Given the description of an element on the screen output the (x, y) to click on. 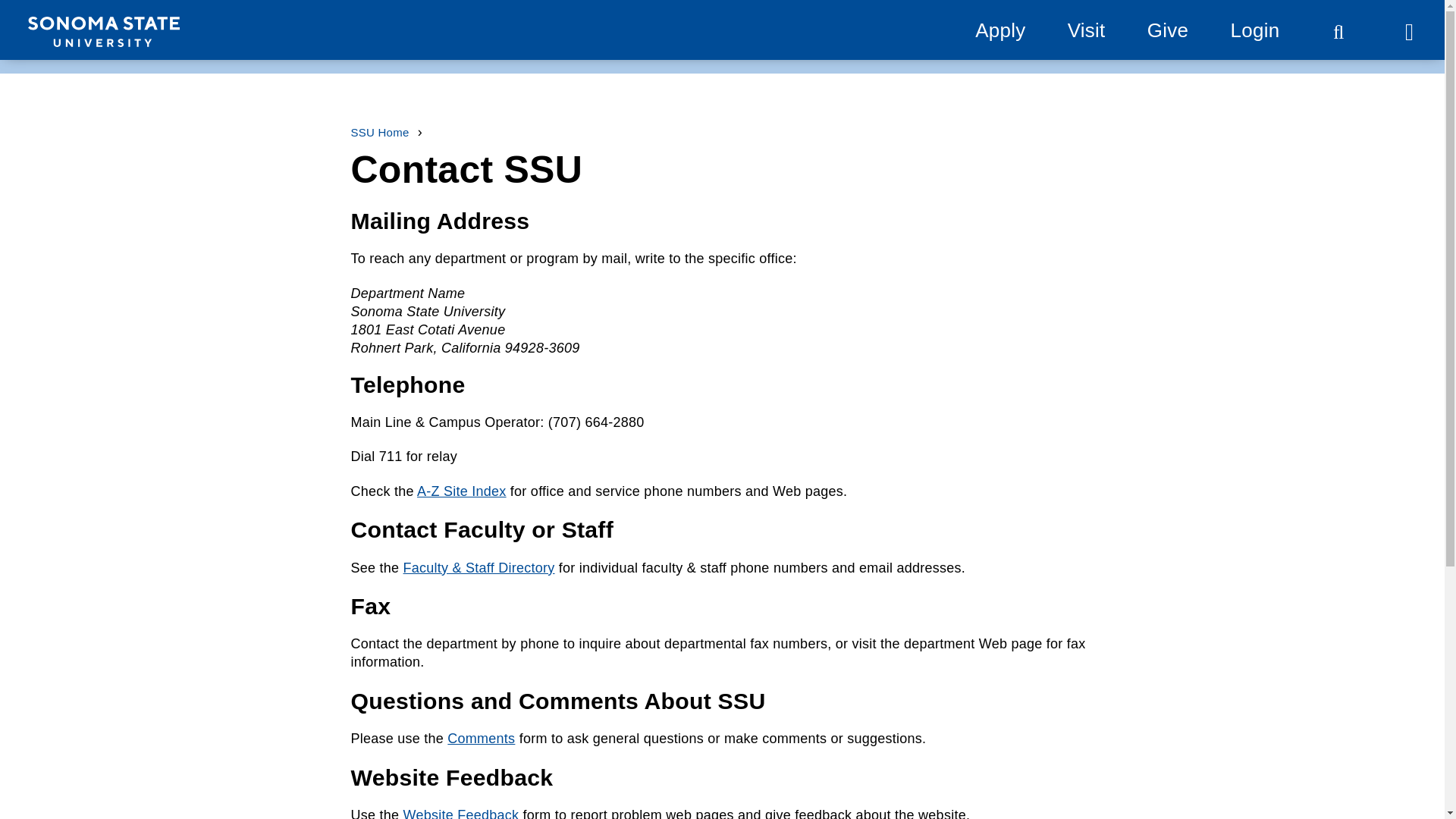
Apply (1000, 30)
Login (1254, 30)
Give (1167, 30)
Jump to content (69, 19)
Visit (1086, 30)
